Given the description of an element on the screen output the (x, y) to click on. 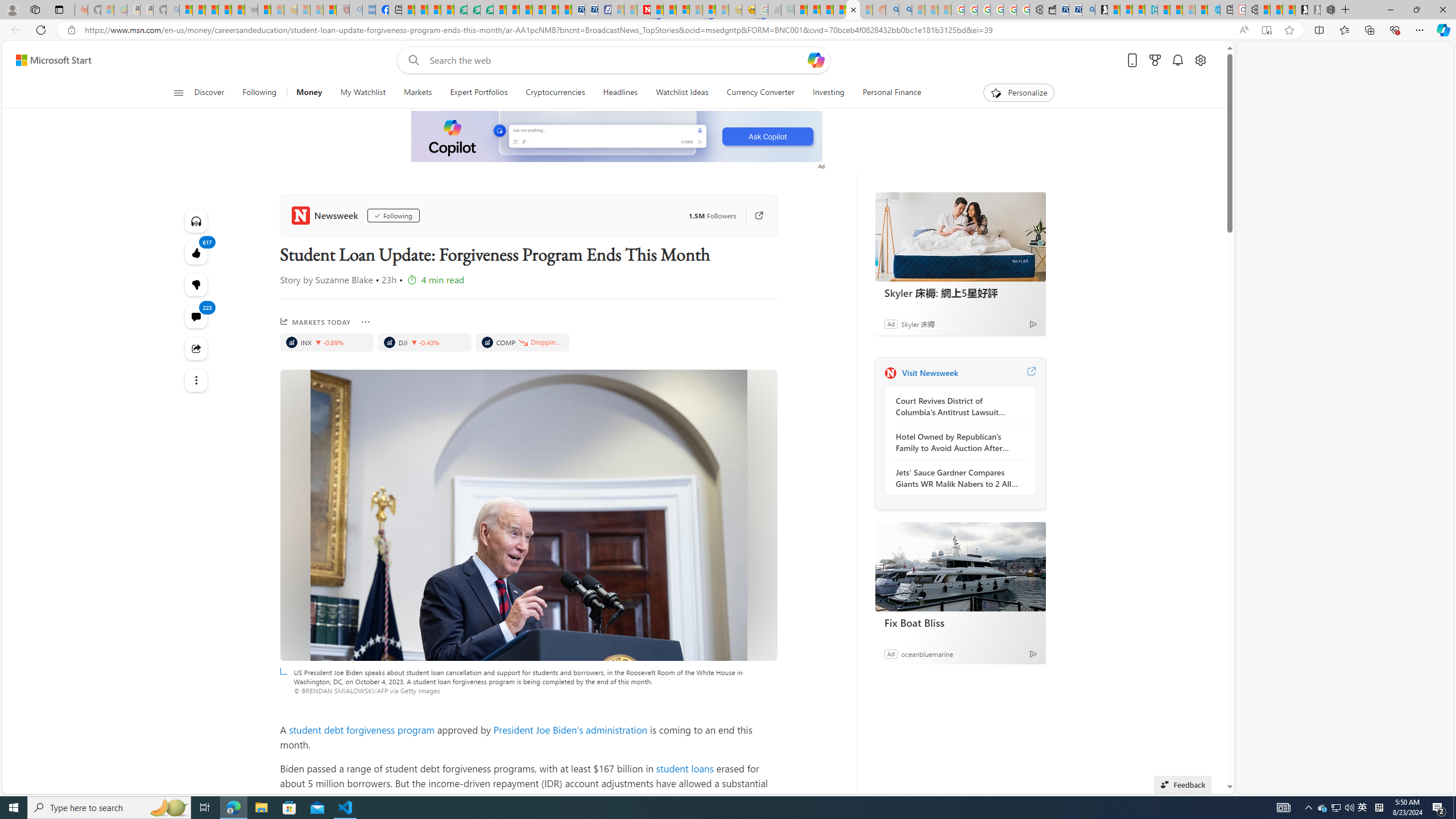
Expert Portfolios (478, 92)
Bing Real Estate - Home sales and rental listings (1088, 9)
Local - MSN (329, 9)
Trusted Community Engagement and Contributions | Guidelines (656, 9)
Terms of Use Agreement (473, 9)
Open settings (1199, 60)
Fix Boat Bliss (959, 622)
To get missing image descriptions, open the context menu. (617, 136)
Expert Portfolios (478, 92)
